Given the description of an element on the screen output the (x, y) to click on. 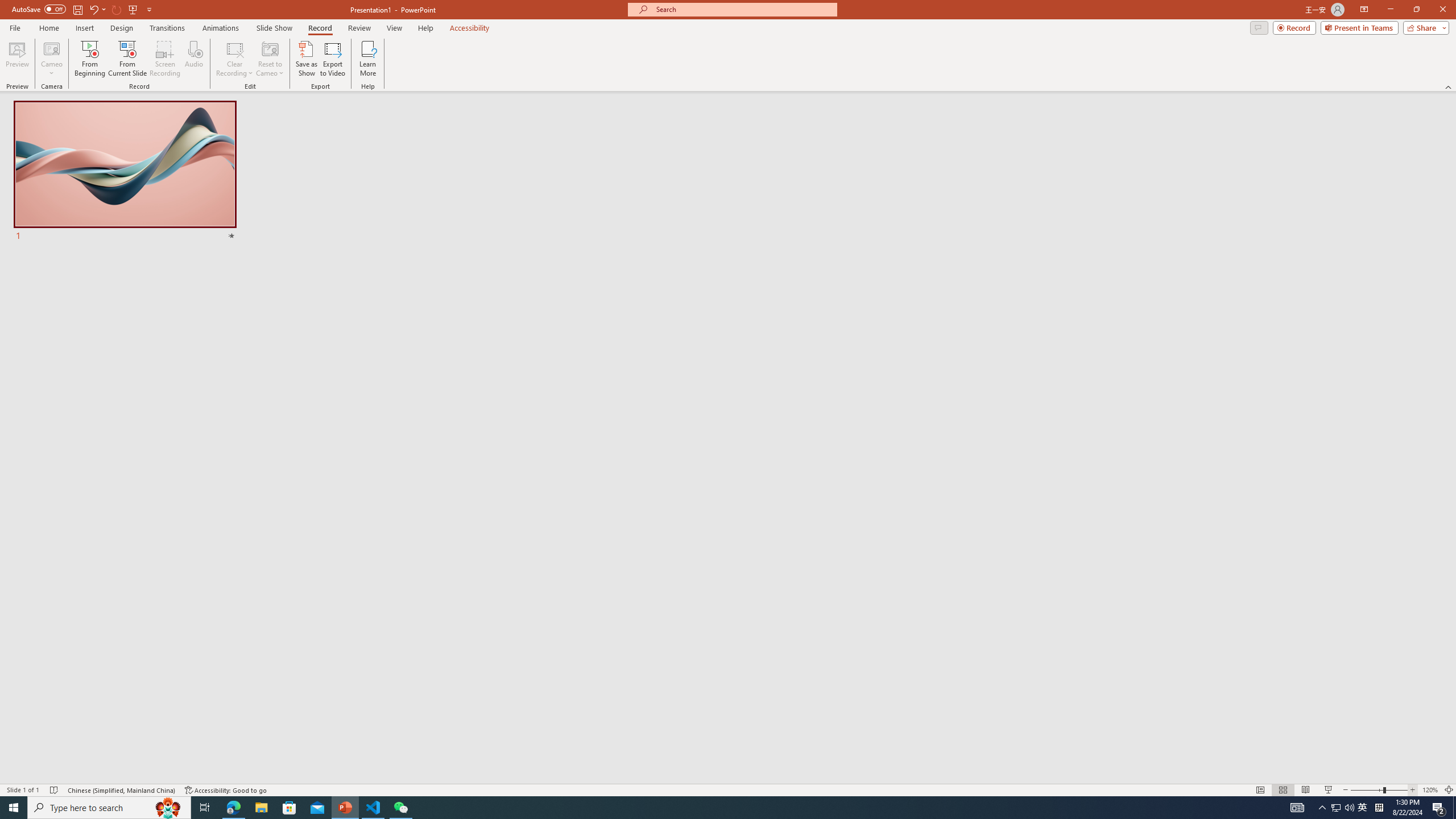
Zoom 120% (1430, 790)
